Given the description of an element on the screen output the (x, y) to click on. 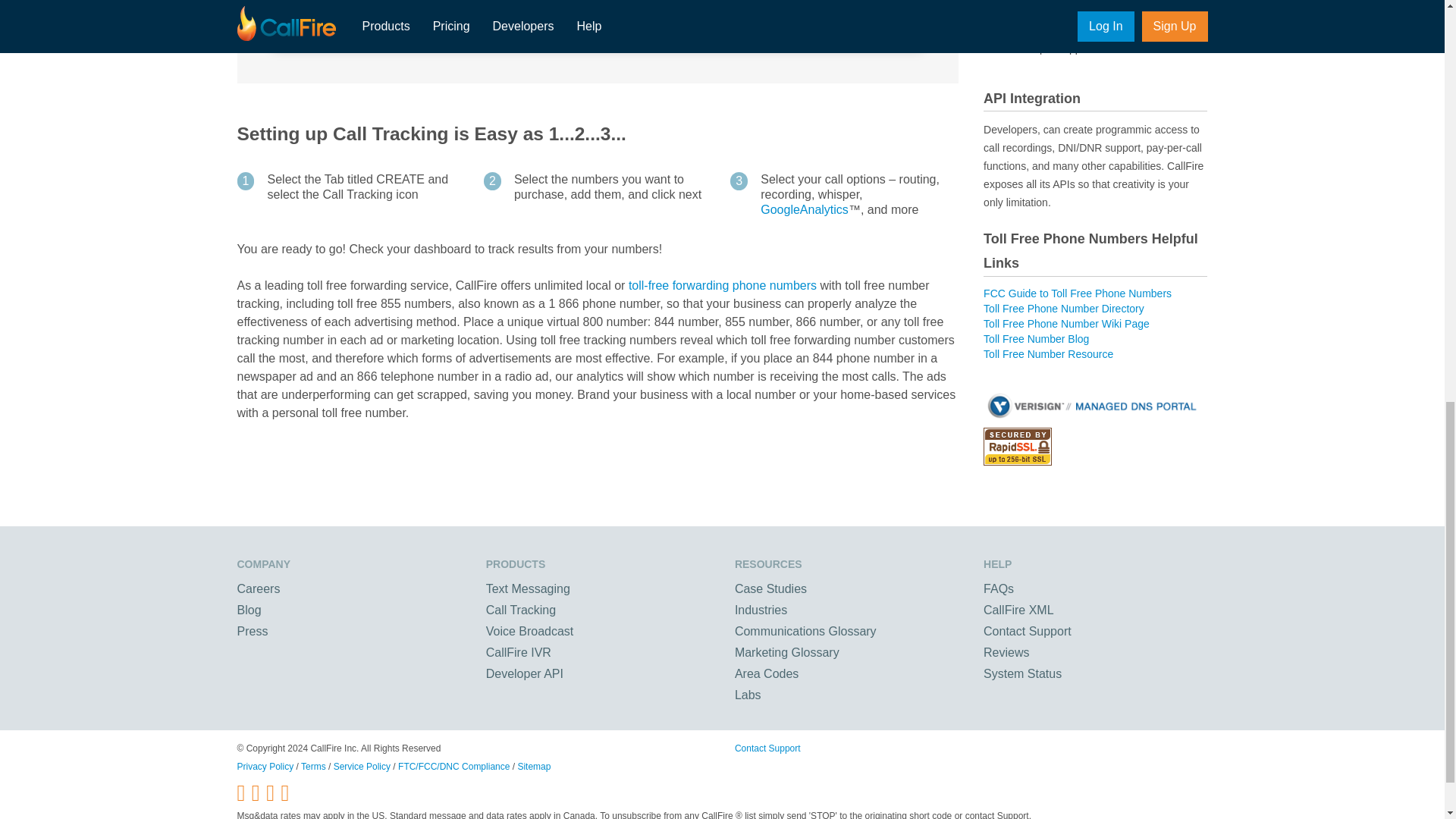
Toll Free Number Blog (1036, 338)
Area Codes (767, 673)
Toll Free Phone Number Directory (1064, 308)
Case Studies (770, 588)
CallFire XML (1018, 609)
Communications Glossary (805, 631)
Industries (761, 609)
CallFire IVR (518, 652)
Developer API (524, 673)
Call Tracking (521, 609)
FCC Guide to Toll Free Phone Numbers (1078, 293)
GoogleAnalytics (804, 209)
Toll Free Number Resource (1048, 354)
Press (251, 631)
FAQs (998, 588)
